Given the description of an element on the screen output the (x, y) to click on. 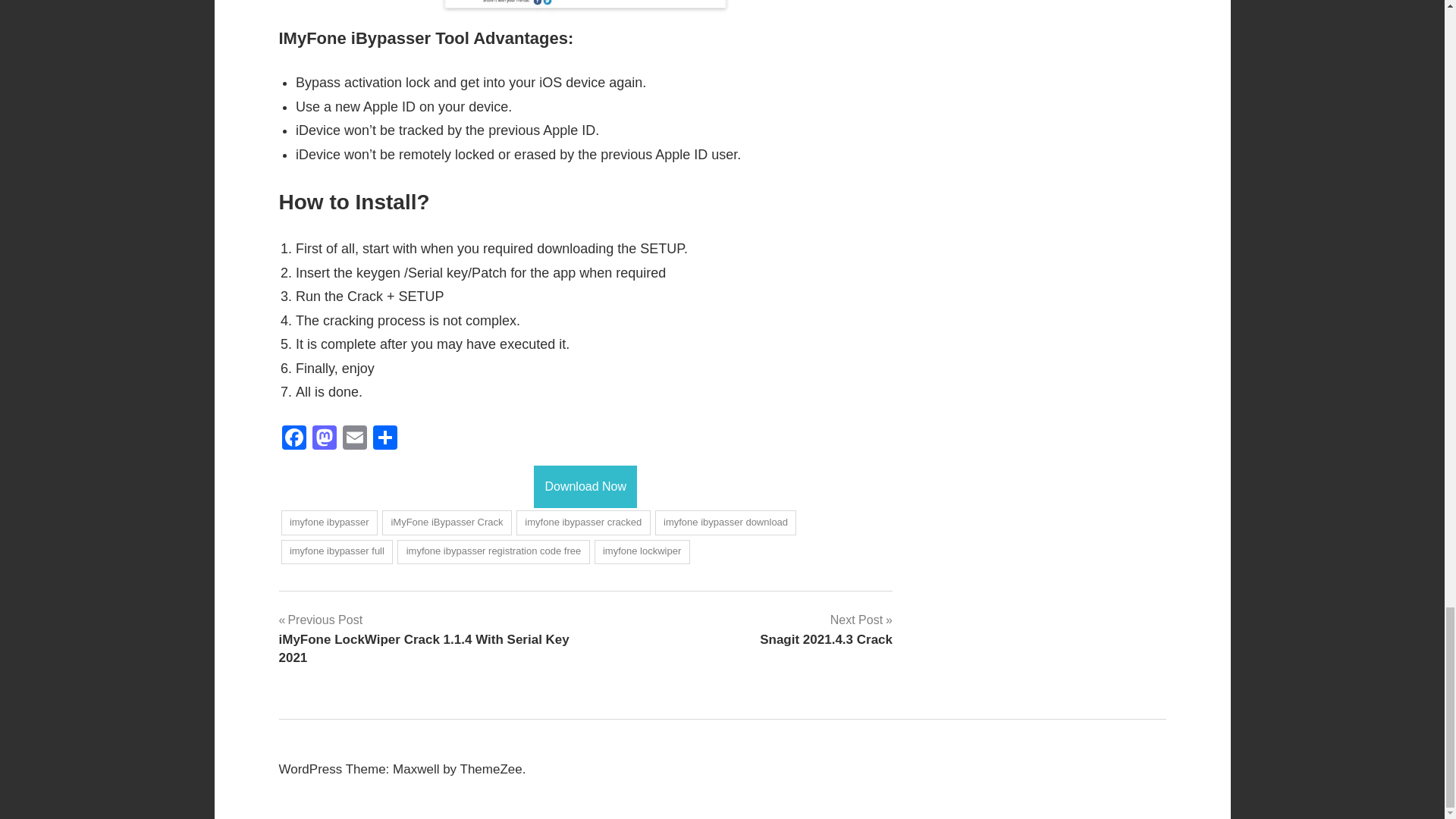
iMyFone iBypasser Crack (446, 522)
Facebook (826, 629)
Mastodon (293, 439)
Download Now (323, 439)
imyfone ibypasser cracked (585, 486)
imyfone ibypasser (583, 522)
Email (329, 522)
Email (354, 439)
Share (354, 439)
imyfone lockwiper (384, 439)
Download Now (642, 552)
imyfone ibypasser registration code free (585, 485)
imyfone ibypasser full (493, 552)
